Given the description of an element on the screen output the (x, y) to click on. 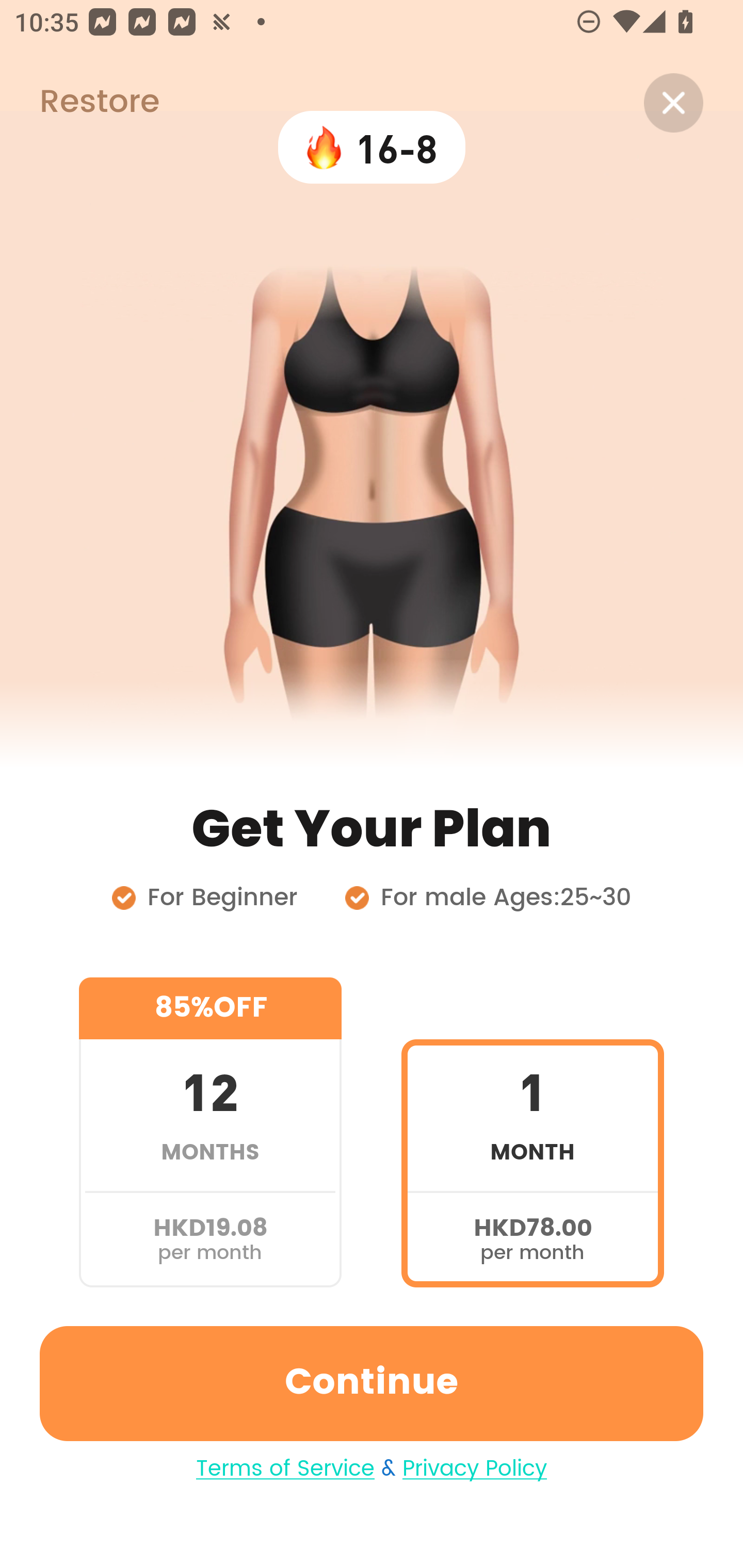
Restore (79, 102)
85%OFF 12 MONTHS per month HKD19.08 (209, 1131)
1 MONTH per month HKD78.00 (532, 1131)
Continue (371, 1383)
